Given the description of an element on the screen output the (x, y) to click on. 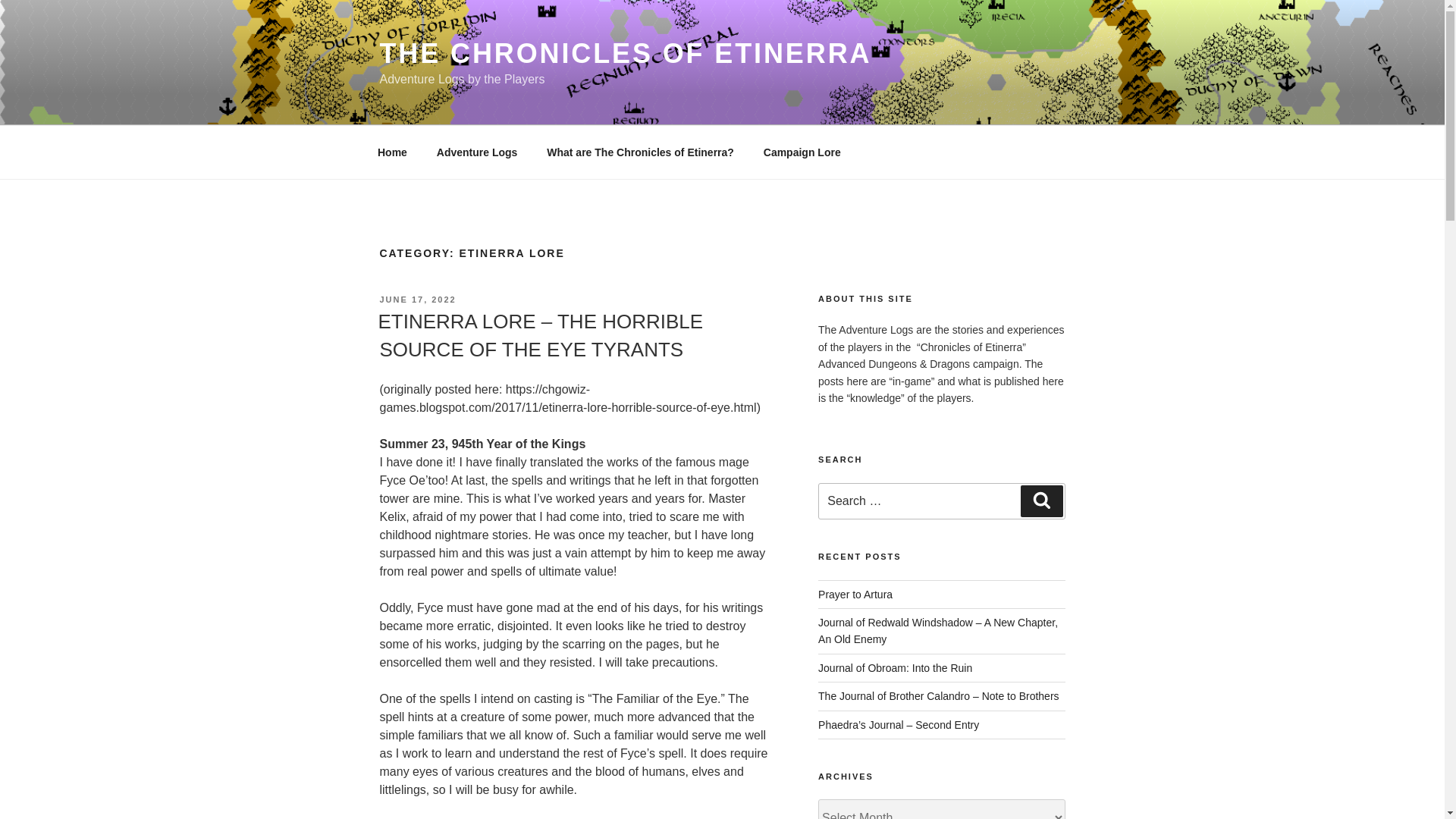
Search (1041, 500)
THE CHRONICLES OF ETINERRA (624, 52)
Campaign Lore (801, 151)
What are The Chronicles of Etinerra? (641, 151)
Home (392, 151)
JUNE 17, 2022 (416, 298)
Adventure Logs (477, 151)
Prayer to Artura (855, 594)
Journal of Obroam: Into the Ruin (895, 667)
